Given the description of an element on the screen output the (x, y) to click on. 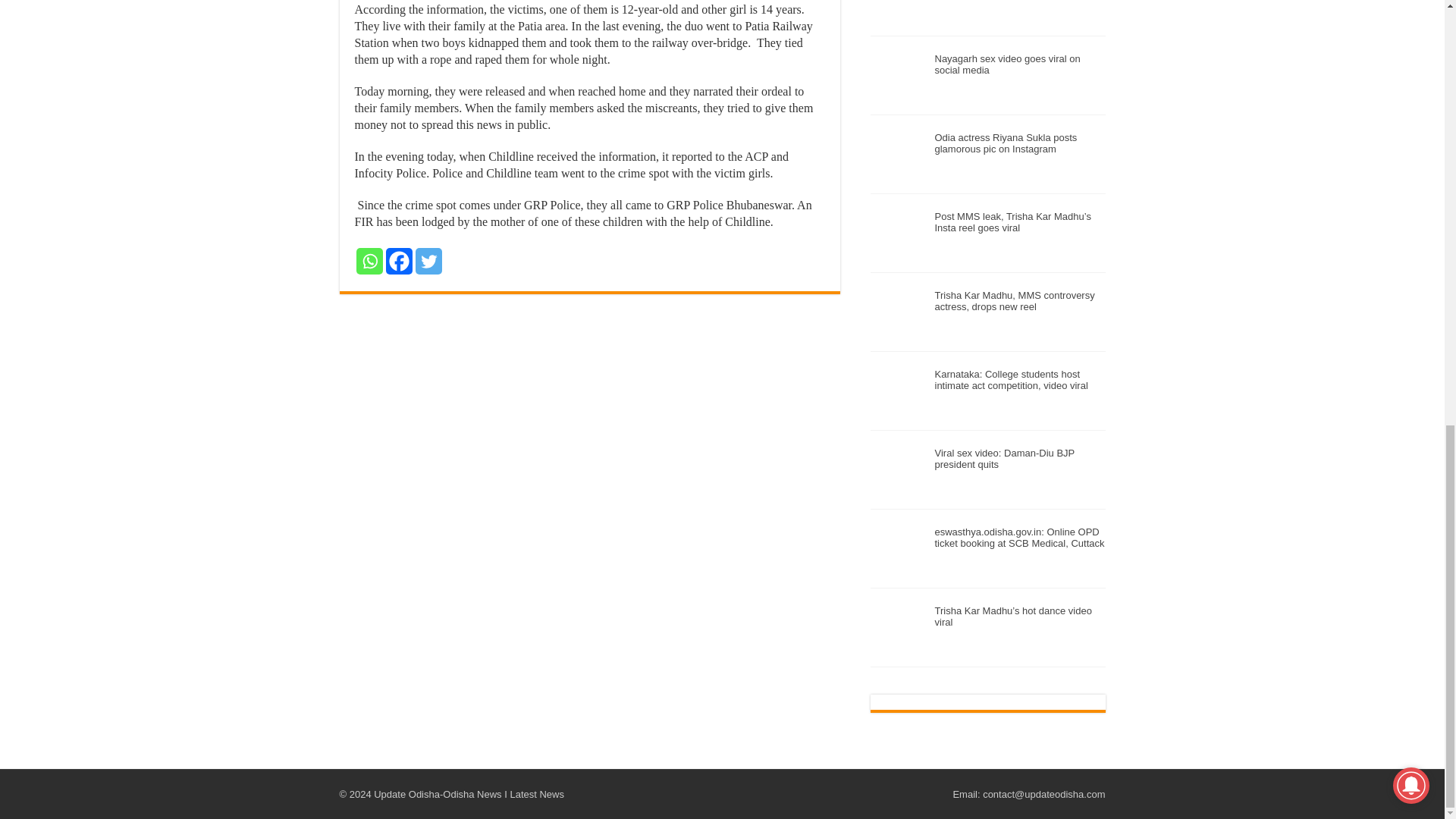
Facebook (398, 261)
Twitter (428, 261)
Whatsapp (369, 261)
